Given the description of an element on the screen output the (x, y) to click on. 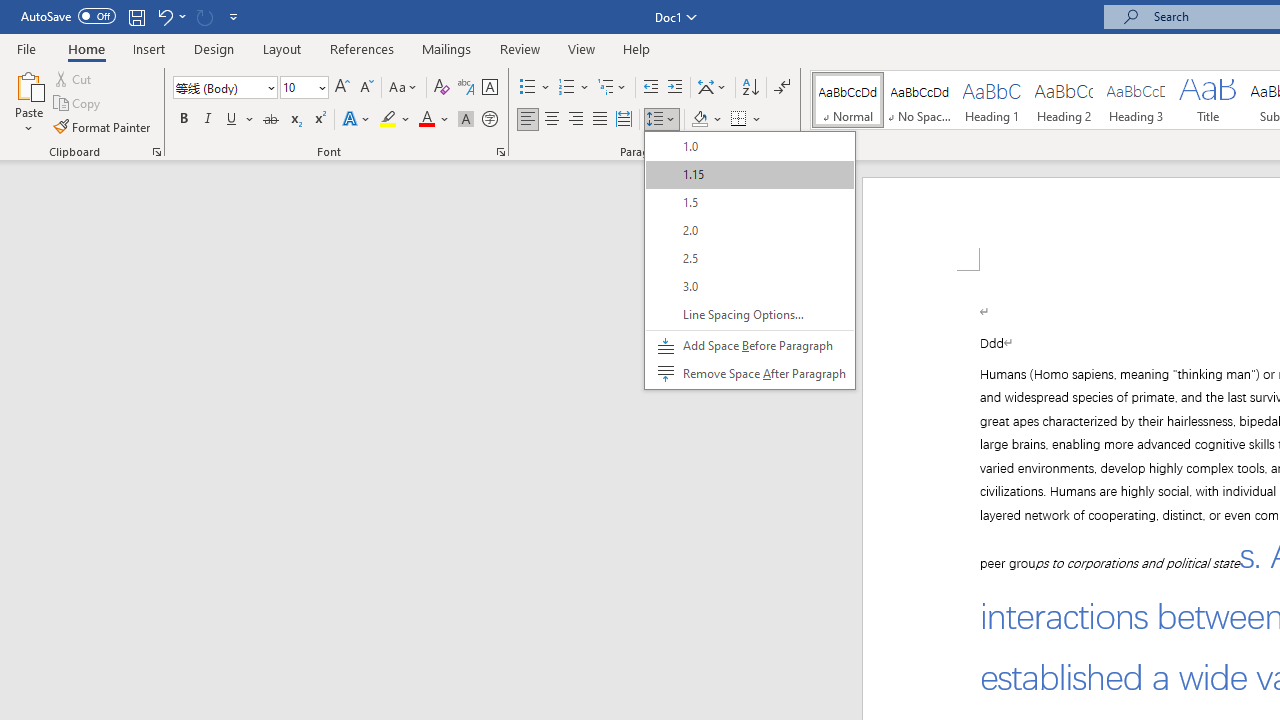
Character Shading (465, 119)
Subscript (294, 119)
Clear Formatting (442, 87)
Text Highlight Color Yellow (388, 119)
Text Effects and Typography (357, 119)
Format Painter (103, 126)
Heading 3 (1135, 100)
Align Right (575, 119)
Shading RGB(0, 0, 0) (699, 119)
Heading 2 (1063, 100)
